Given the description of an element on the screen output the (x, y) to click on. 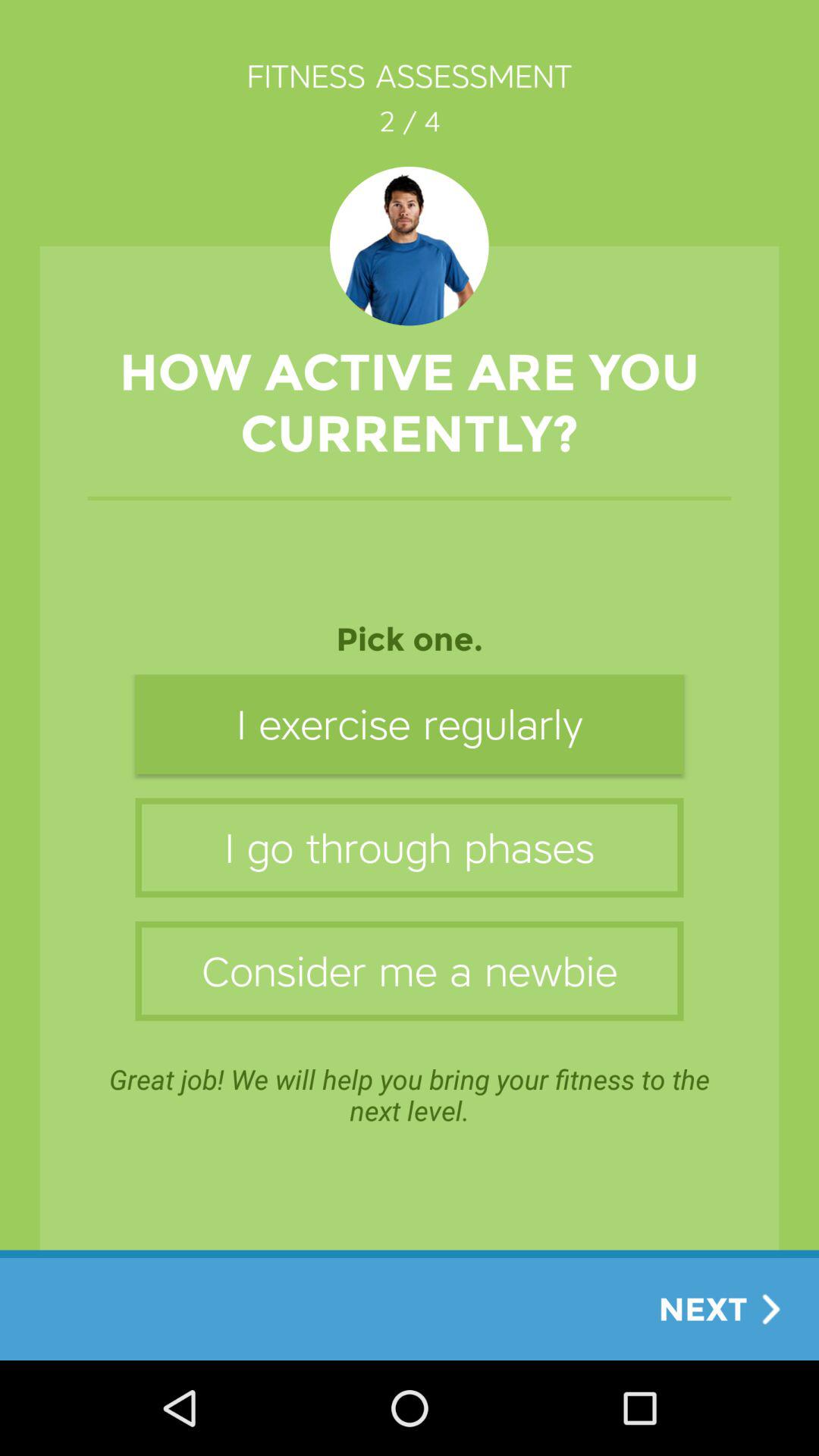
tap i go through icon (409, 847)
